Given the description of an element on the screen output the (x, y) to click on. 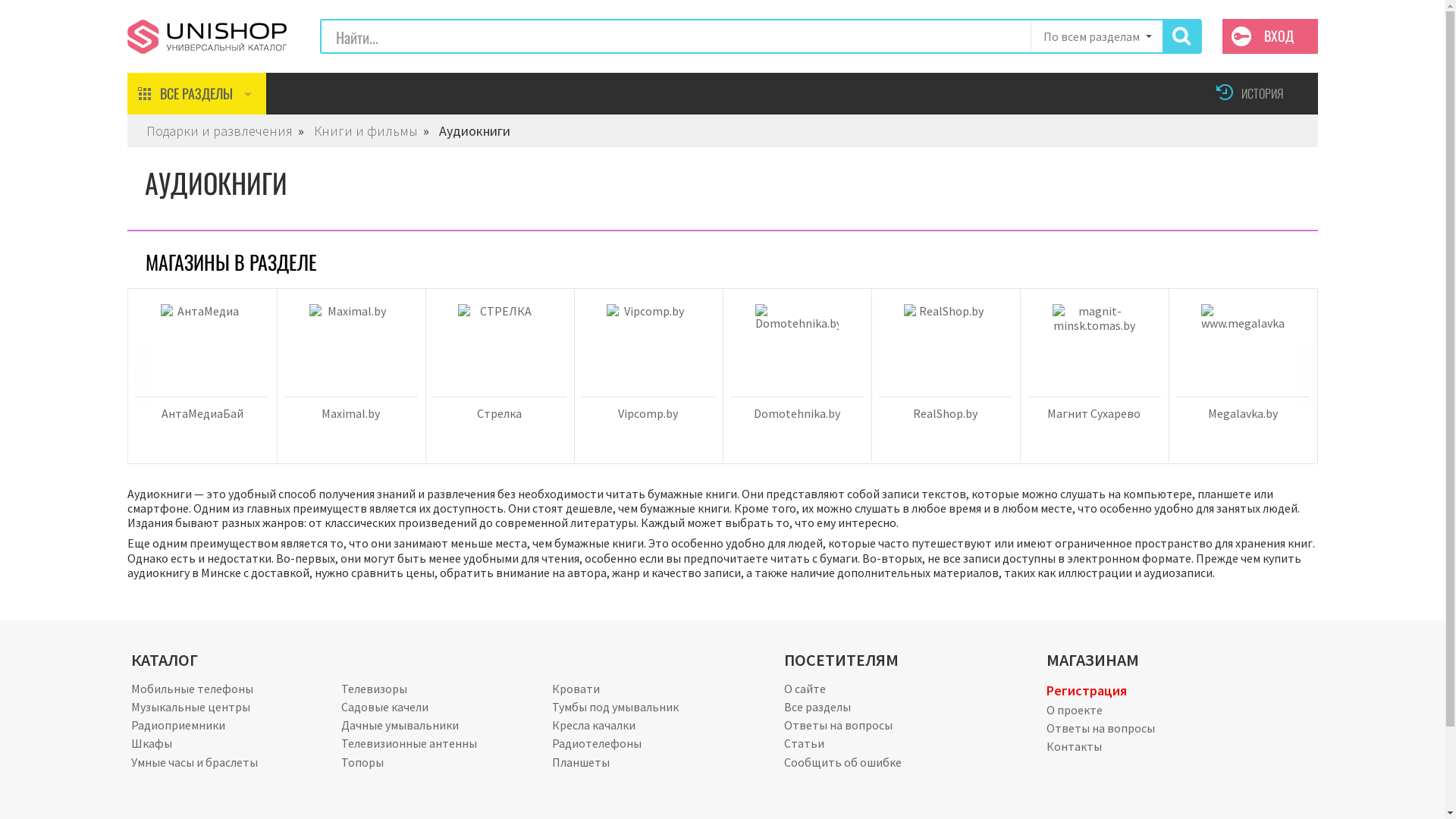
RealShop.by Element type: text (944, 412)
Megalavka.by Element type: text (1241, 412)
Vipcomp.by Element type: text (647, 412)
Maximal.by Element type: text (350, 412)
UNISHOP.BY Element type: text (206, 33)
Domotehnika.by Element type: text (795, 412)
